Given the description of an element on the screen output the (x, y) to click on. 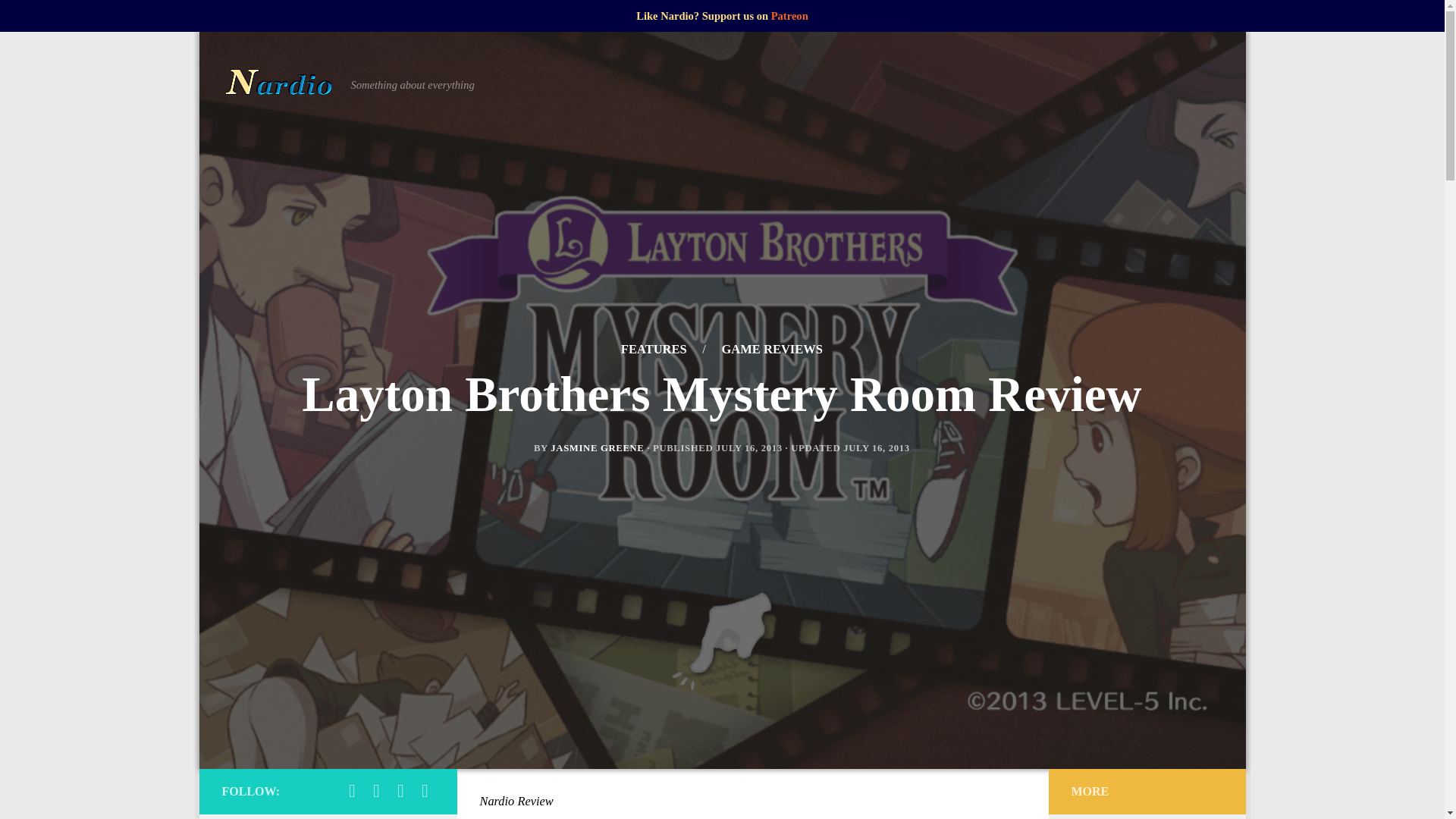
Follow us on Twitter (400, 791)
FEATURES (652, 349)
JASMINE GREENE (596, 448)
Follow us on Instagram (375, 791)
Posts by Jasmine Greene (596, 448)
GAME REVIEWS (771, 349)
Follow us on Youtube (423, 791)
Follow us on Facebook (351, 791)
Patreon (789, 15)
